Given the description of an element on the screen output the (x, y) to click on. 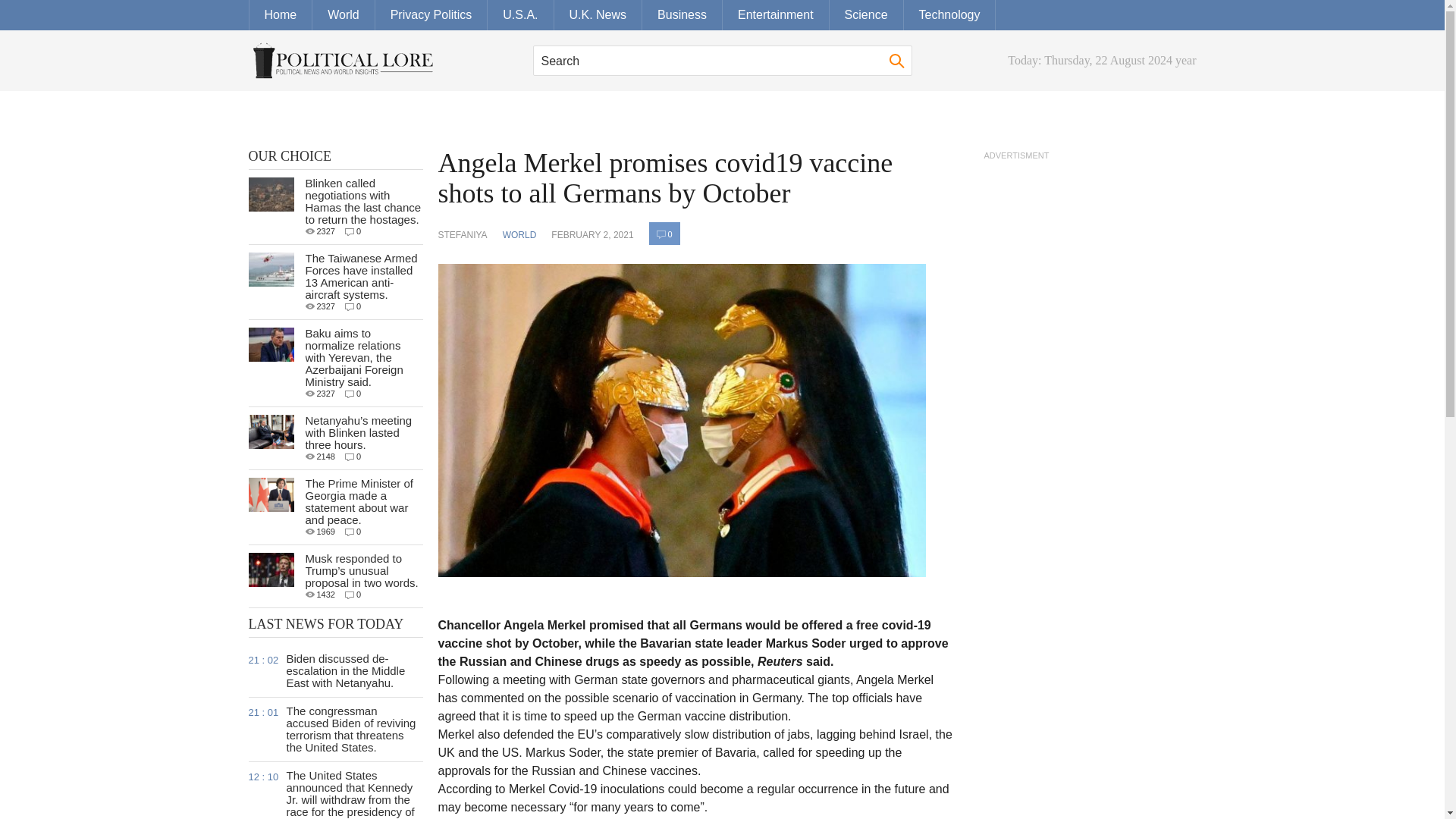
Search (721, 60)
Business (682, 15)
U.S.A. (520, 15)
Entertainment (775, 15)
World (344, 15)
